Given the description of an element on the screen output the (x, y) to click on. 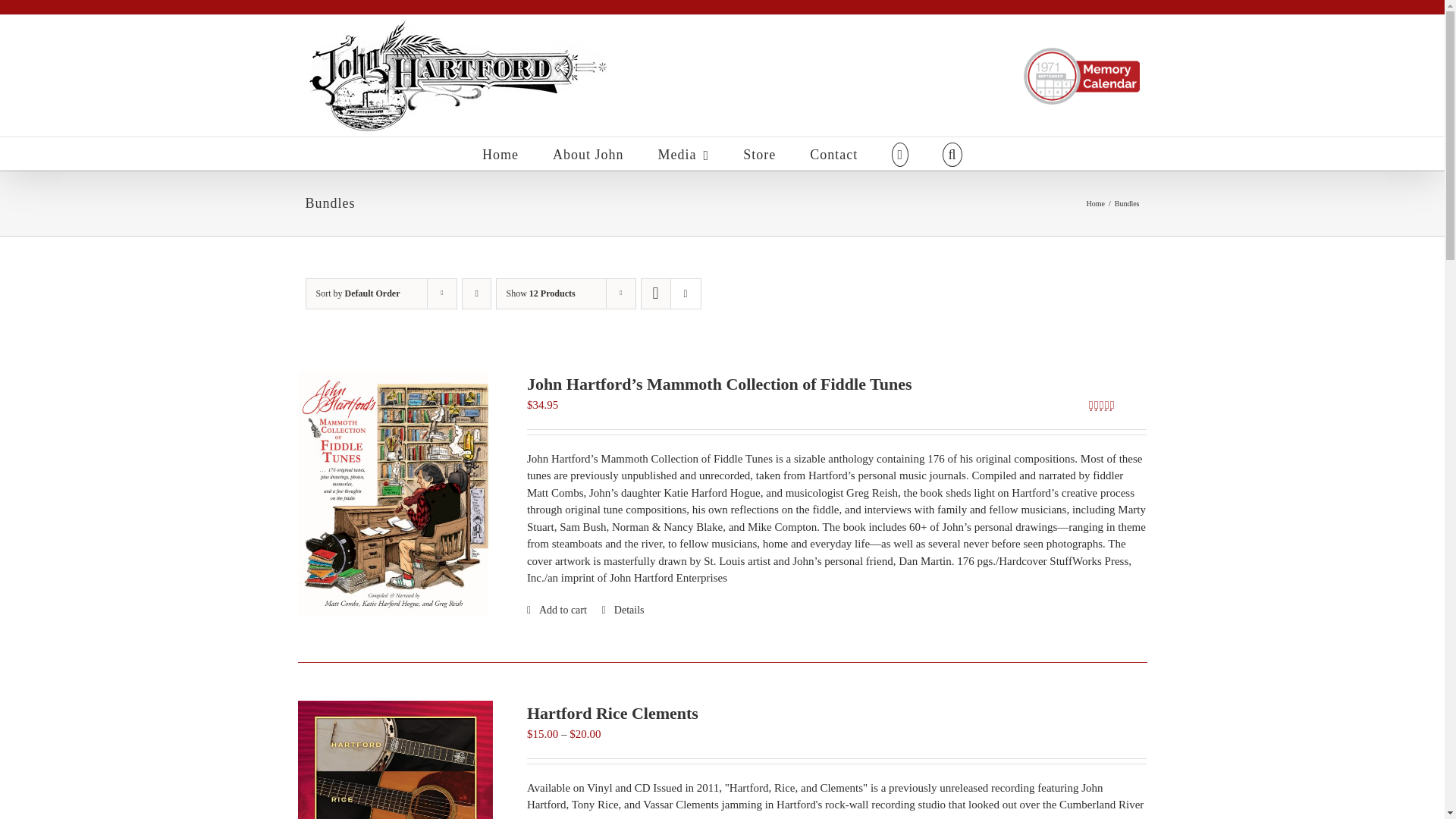
About John (588, 153)
Show 12 Products (540, 293)
Store (759, 153)
Hartford Rice Clements (612, 712)
Details (623, 609)
Home (1094, 203)
Add to cart (556, 609)
Media (684, 153)
Contact (833, 153)
Sort by Default Order (356, 293)
Home (499, 153)
